Given the description of an element on the screen output the (x, y) to click on. 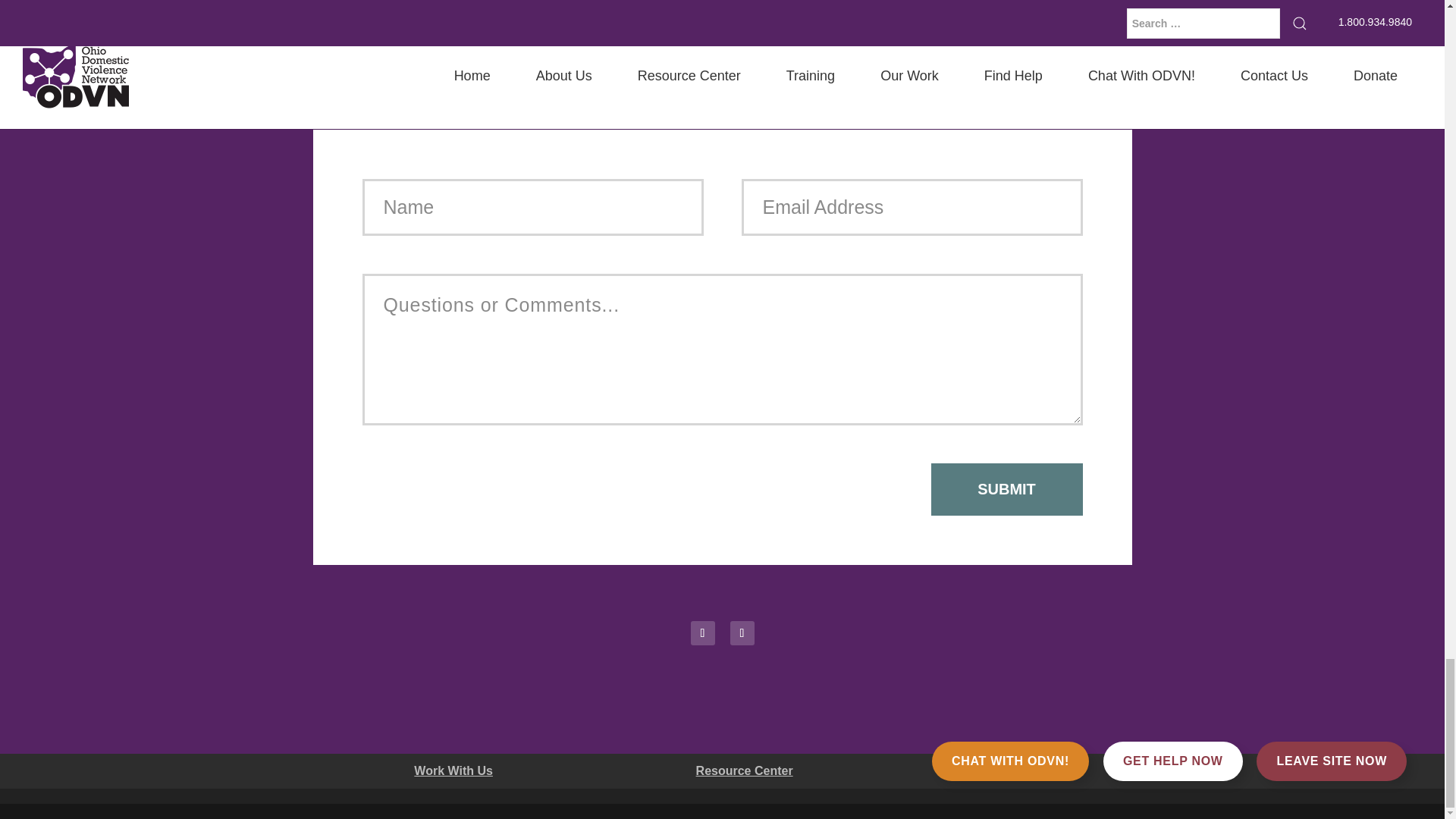
Submit (1007, 489)
